Given the description of an element on the screen output the (x, y) to click on. 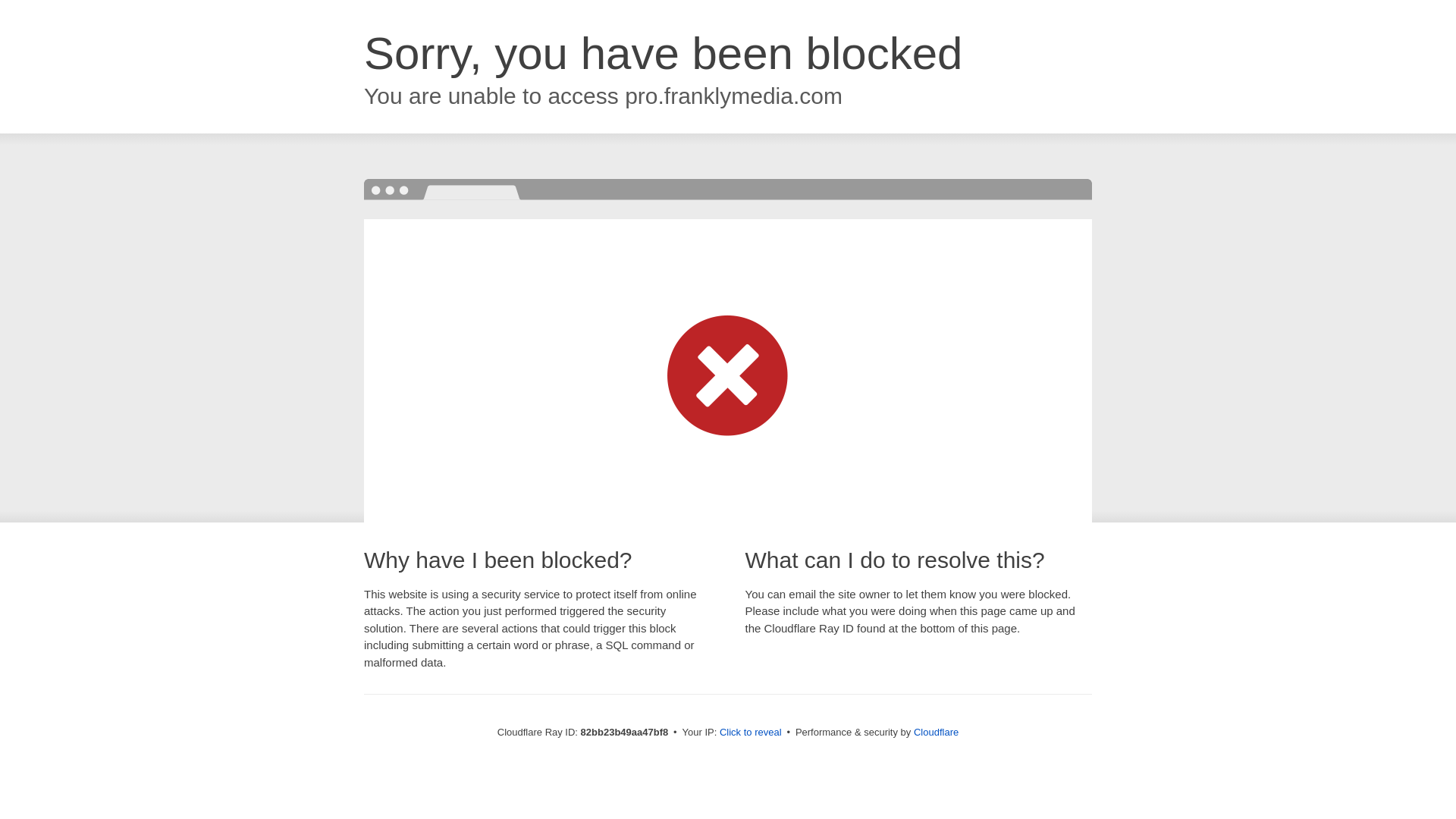
Cloudflare Element type: text (935, 731)
Click to reveal Element type: text (750, 732)
